Given the description of an element on the screen output the (x, y) to click on. 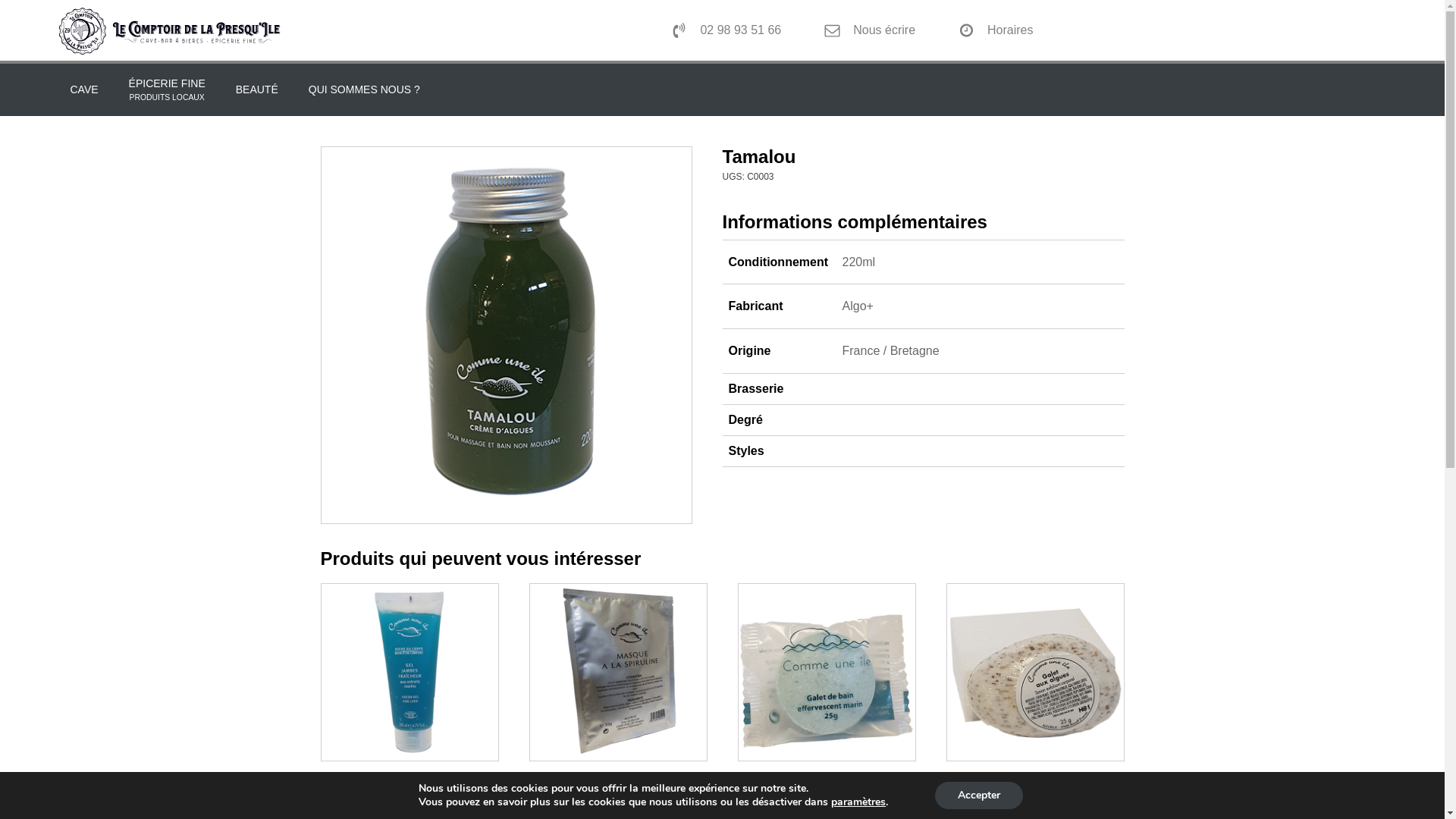
CAVE Element type: text (83, 89)
Horaires Element type: text (988, 30)
Tamalou 1 Element type: hover (506, 332)
Galets effervescents Element type: text (826, 691)
QUI SOMMES NOUS ? Element type: text (364, 89)
Savon exfoliant blanc aux algues Element type: text (1035, 691)
Accepter Element type: text (978, 795)
02 98 93 51 66 Element type: text (719, 30)
